Given the description of an element on the screen output the (x, y) to click on. 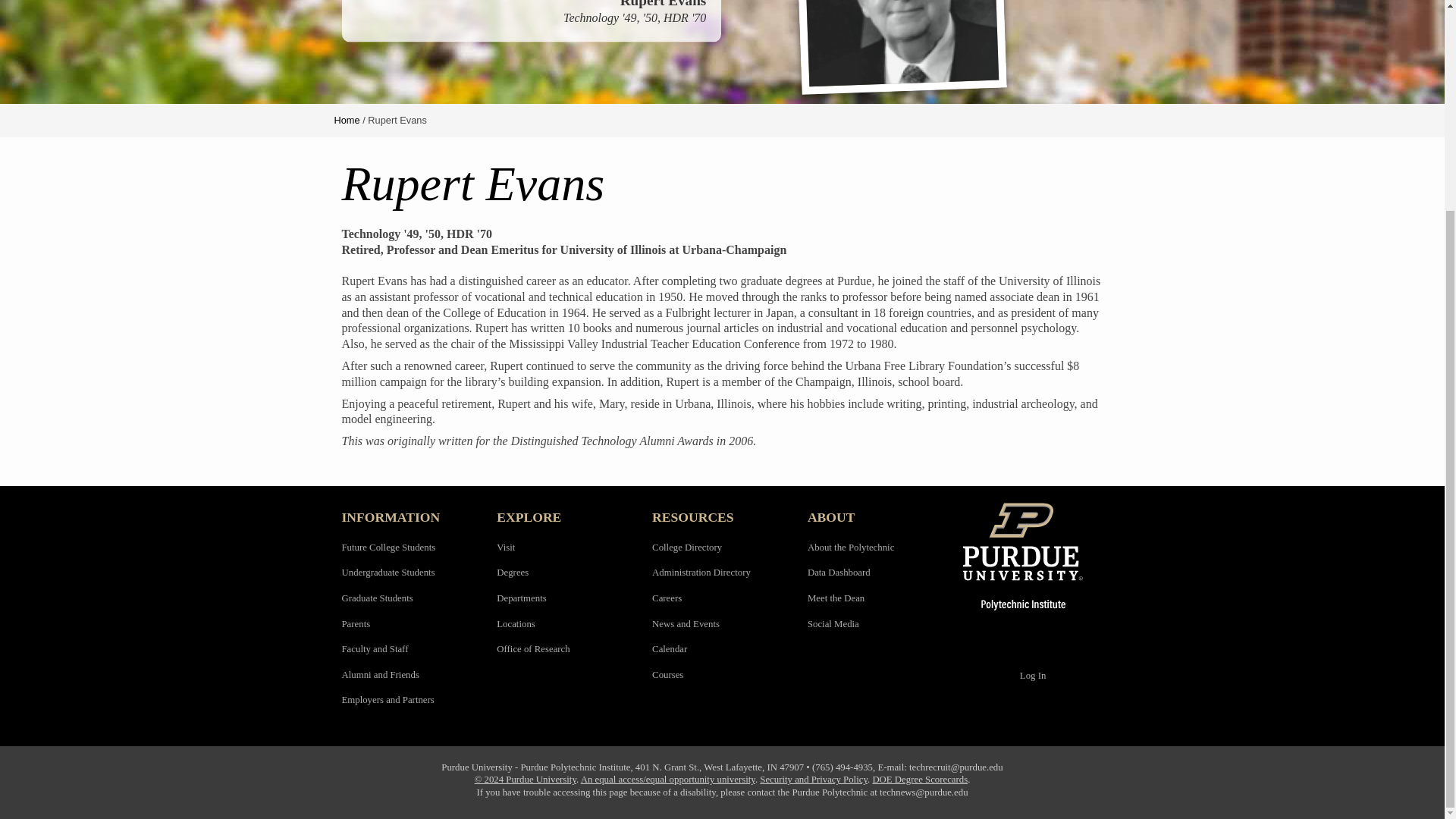
Future College Students (387, 547)
College Directory (687, 547)
Administration Directory (701, 572)
Undergraduate Students (386, 572)
Home (346, 120)
Careers (666, 597)
Purdue Polytechnic Institute (1032, 556)
Graduate Students (376, 597)
Locations (515, 624)
Visit (505, 547)
Degrees (512, 572)
Alumni and Friends (379, 674)
Faculty and Staff (373, 648)
Employers and Partners (386, 699)
Office of Research (532, 648)
